Given the description of an element on the screen output the (x, y) to click on. 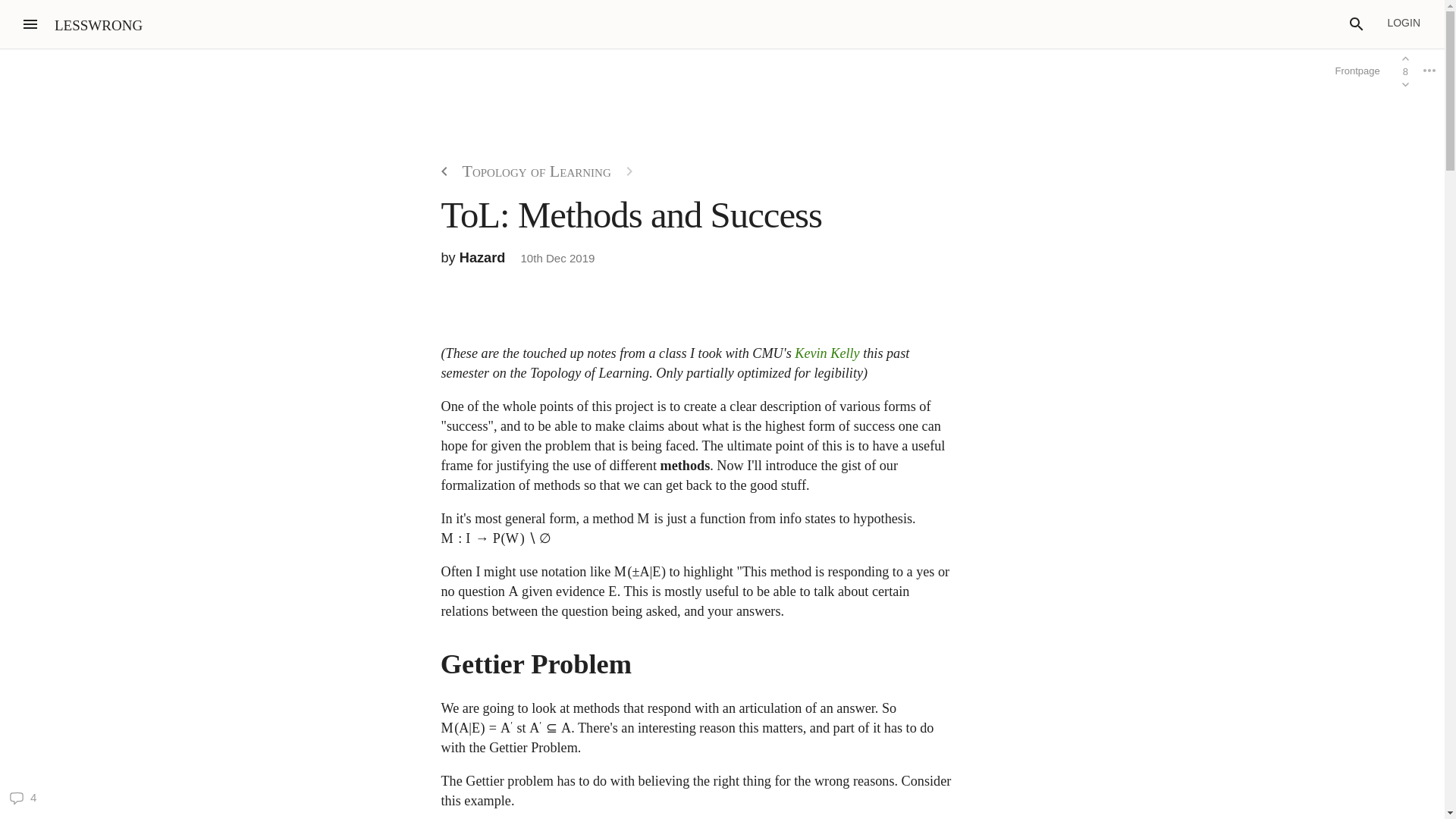
LESSWRONG (98, 25)
Kevin Kelly (826, 353)
Frontpage (1357, 70)
ToL: Methods and Success (631, 214)
LOGIN (1403, 22)
Hazard (482, 257)
ToL: This ONE WEIRD Trick to make you a GENIUS at Topology! (444, 171)
Topology of Learning (537, 170)
